Given the description of an element on the screen output the (x, y) to click on. 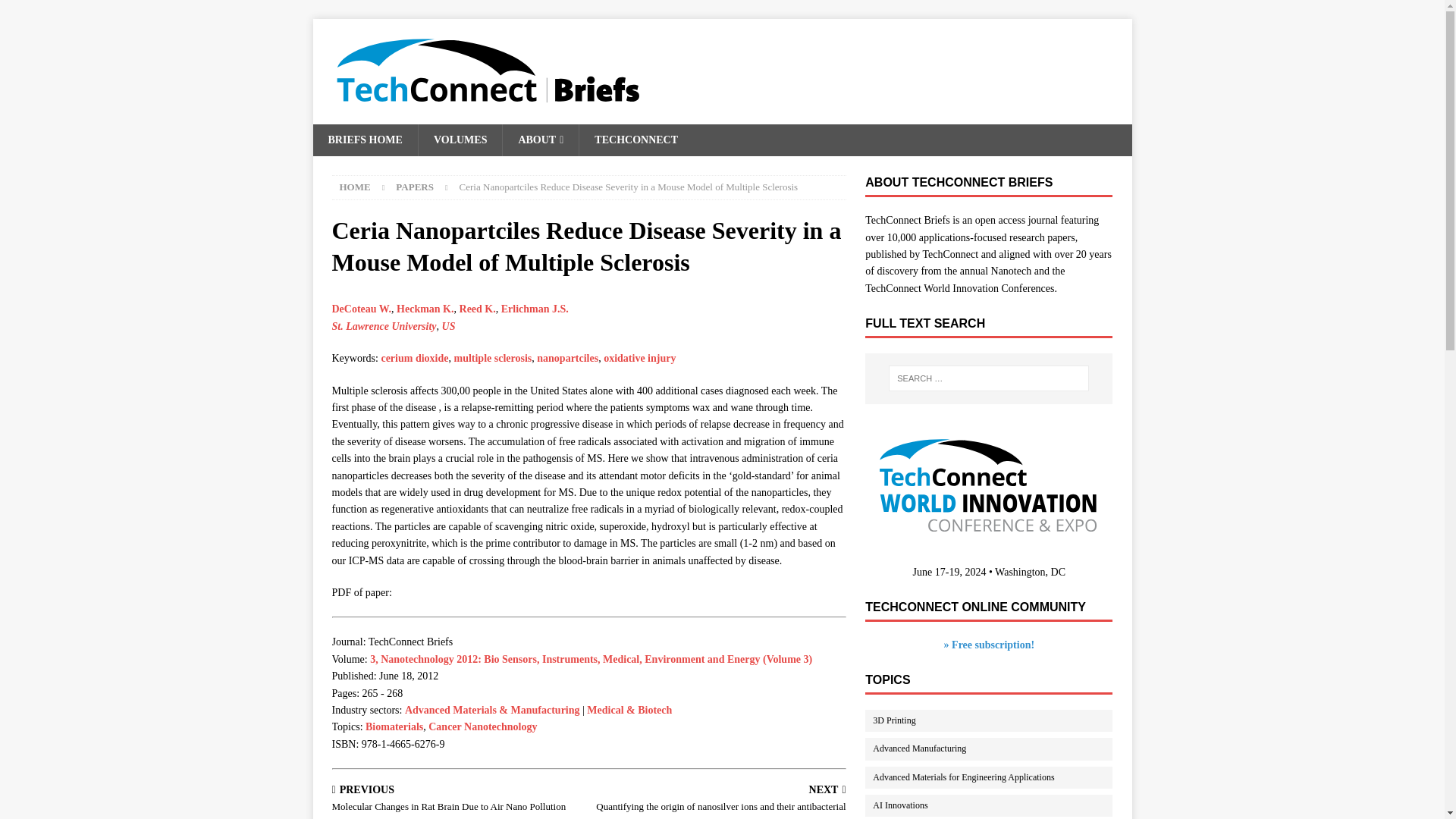
ABOUT (540, 140)
Reed K. (478, 308)
Erlichman J.S. (534, 308)
HOME (355, 186)
Home (355, 186)
multiple sclerosis (491, 357)
Papers (414, 186)
US (448, 326)
BRIEFS HOME (364, 140)
Biomaterials (394, 726)
PAPERS (414, 186)
Heckman K. (424, 308)
Cancer Nanotechnology (482, 726)
cerium dioxide (414, 357)
